Given the description of an element on the screen output the (x, y) to click on. 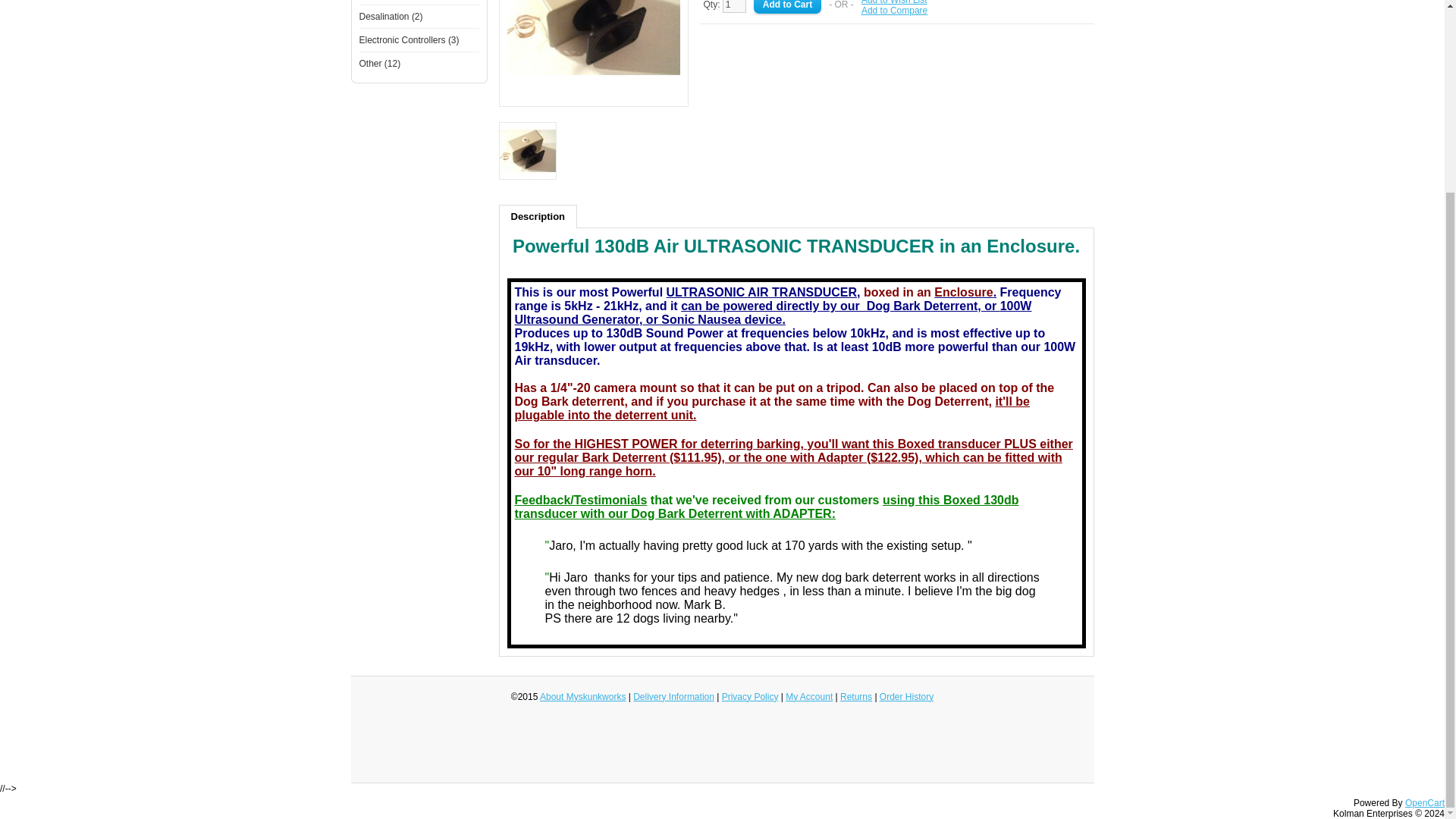
Delivery Information (673, 696)
1 (733, 6)
My Account (809, 696)
Description (538, 216)
About Myskunkworks (583, 696)
Add to Compare (894, 9)
Add to Wish List (894, 2)
Privacy Policy (750, 696)
Add to Cart (787, 6)
Order History (906, 696)
Returns (856, 696)
